Given the description of an element on the screen output the (x, y) to click on. 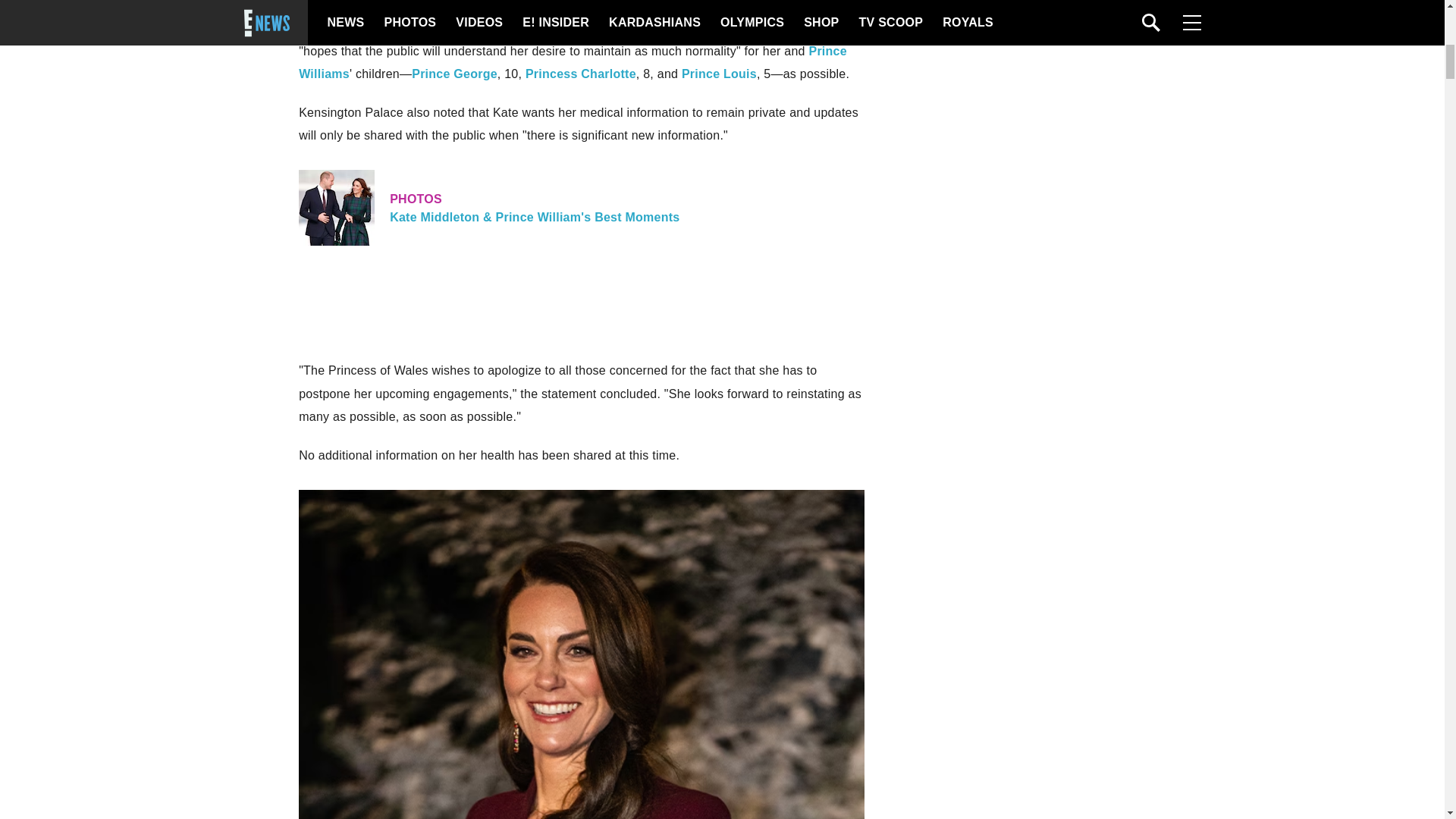
Princess Charlotte (580, 73)
Prince Williams (572, 62)
Prince George (454, 73)
Prince Louis (719, 73)
